Given the description of an element on the screen output the (x, y) to click on. 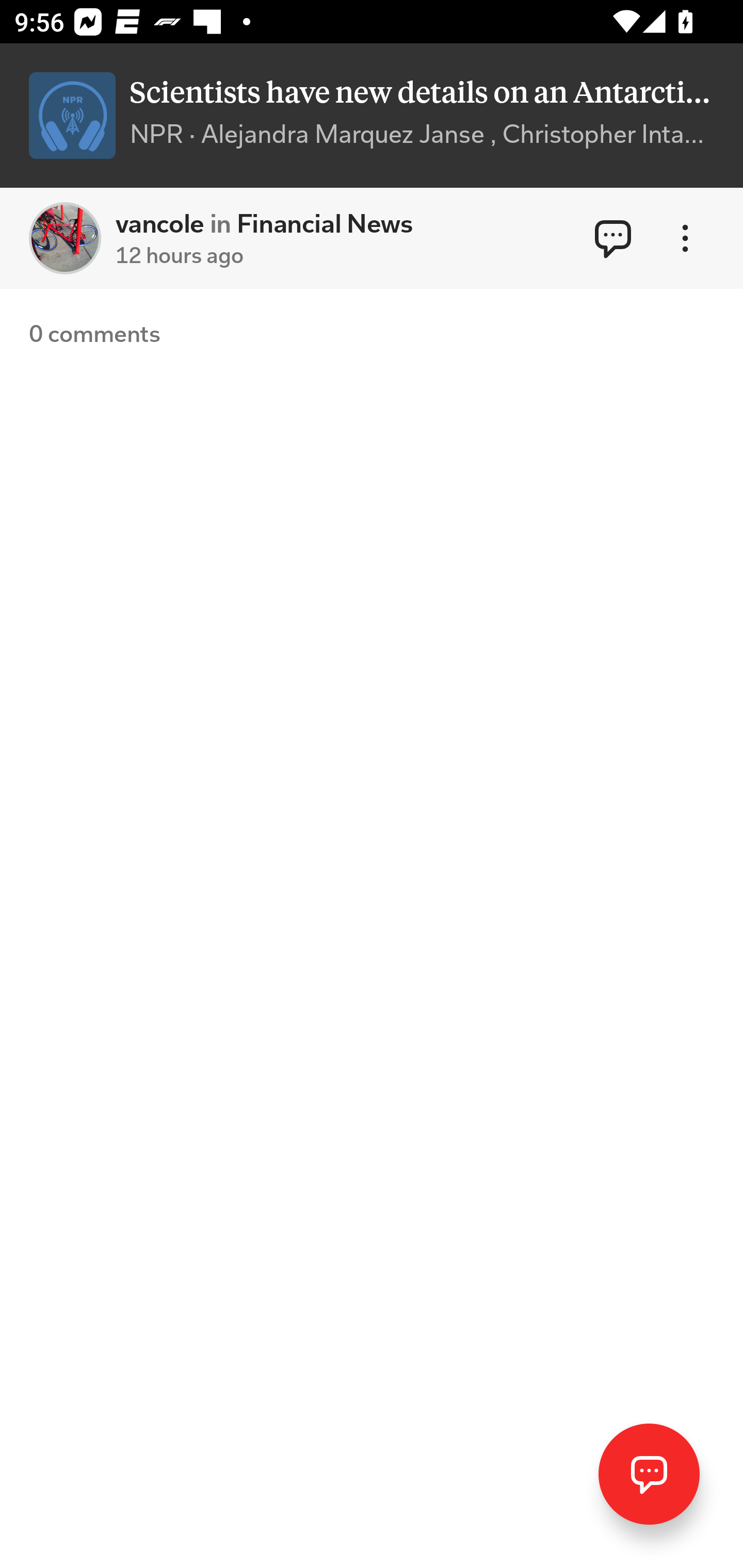
vancole (64, 238)
